Given the description of an element on the screen output the (x, y) to click on. 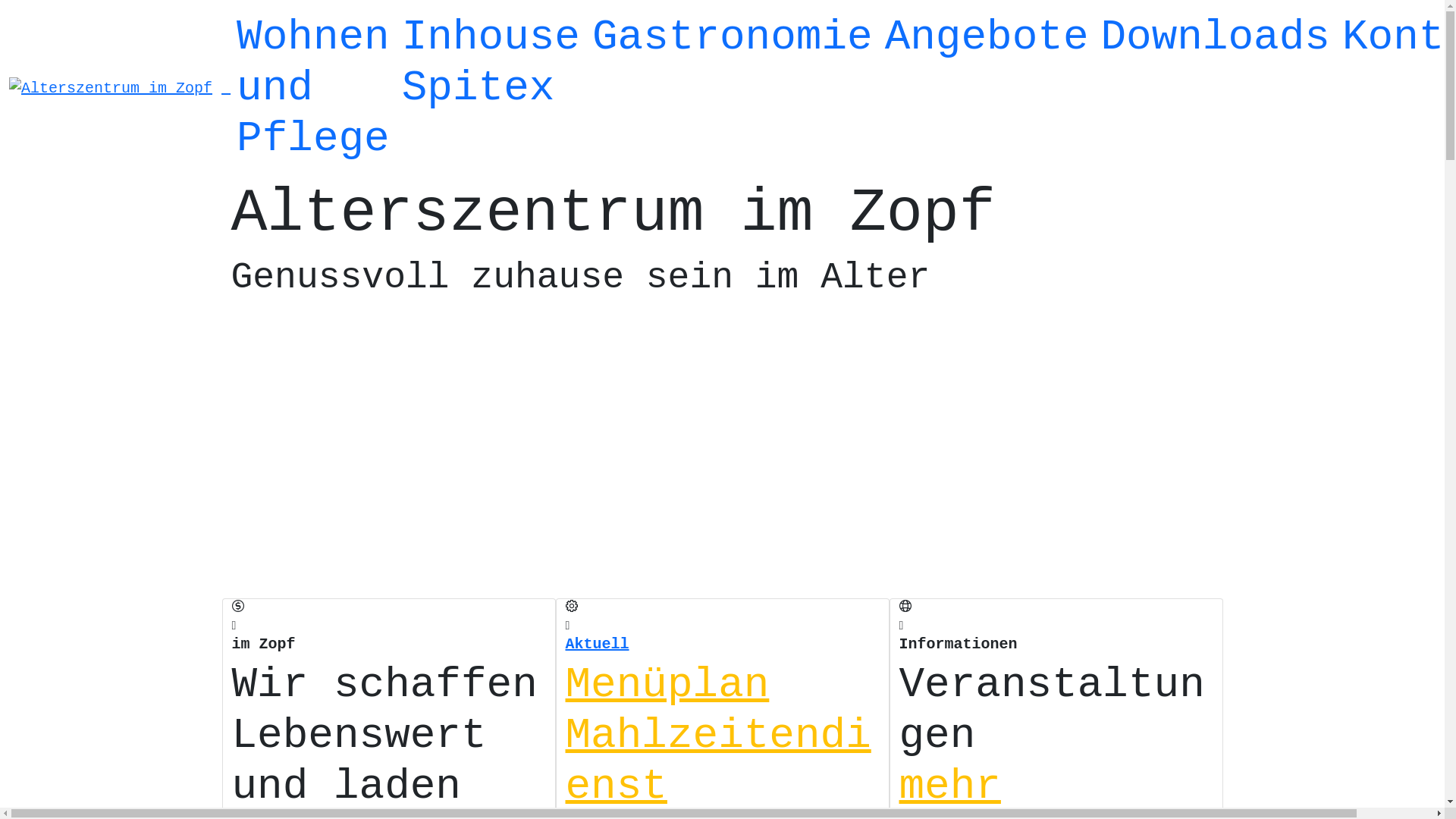
Gastronomie Element type: text (732, 37)
Aktuell Element type: text (597, 643)
Inhouse Spitex Element type: text (490, 62)
  Element type: text (225, 88)
Mahlzeitendienst Element type: text (718, 760)
mehr Element type: text (950, 786)
Wohnen und Pflege Element type: text (312, 88)
Angebote Element type: text (986, 37)
Downloads Element type: text (1214, 37)
